Given the description of an element on the screen output the (x, y) to click on. 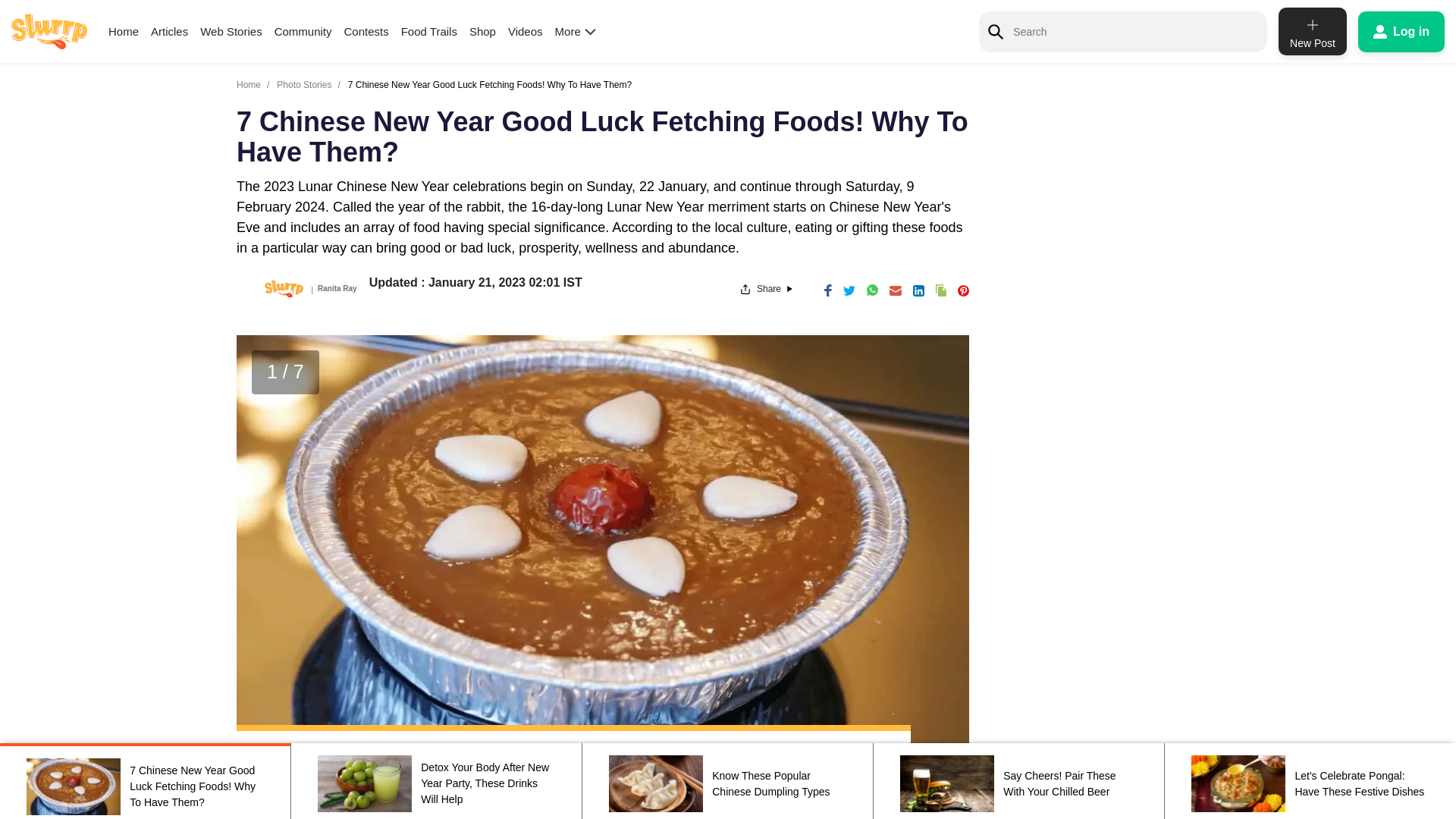
Home (247, 84)
Contests (365, 31)
Photo Stories (303, 84)
Shop (231, 31)
Food Trails (482, 31)
user login (429, 31)
Articles (1401, 30)
Community (169, 31)
New Post (303, 31)
Videos (1312, 31)
Log in (525, 31)
Home (1401, 30)
